Given the description of an element on the screen output the (x, y) to click on. 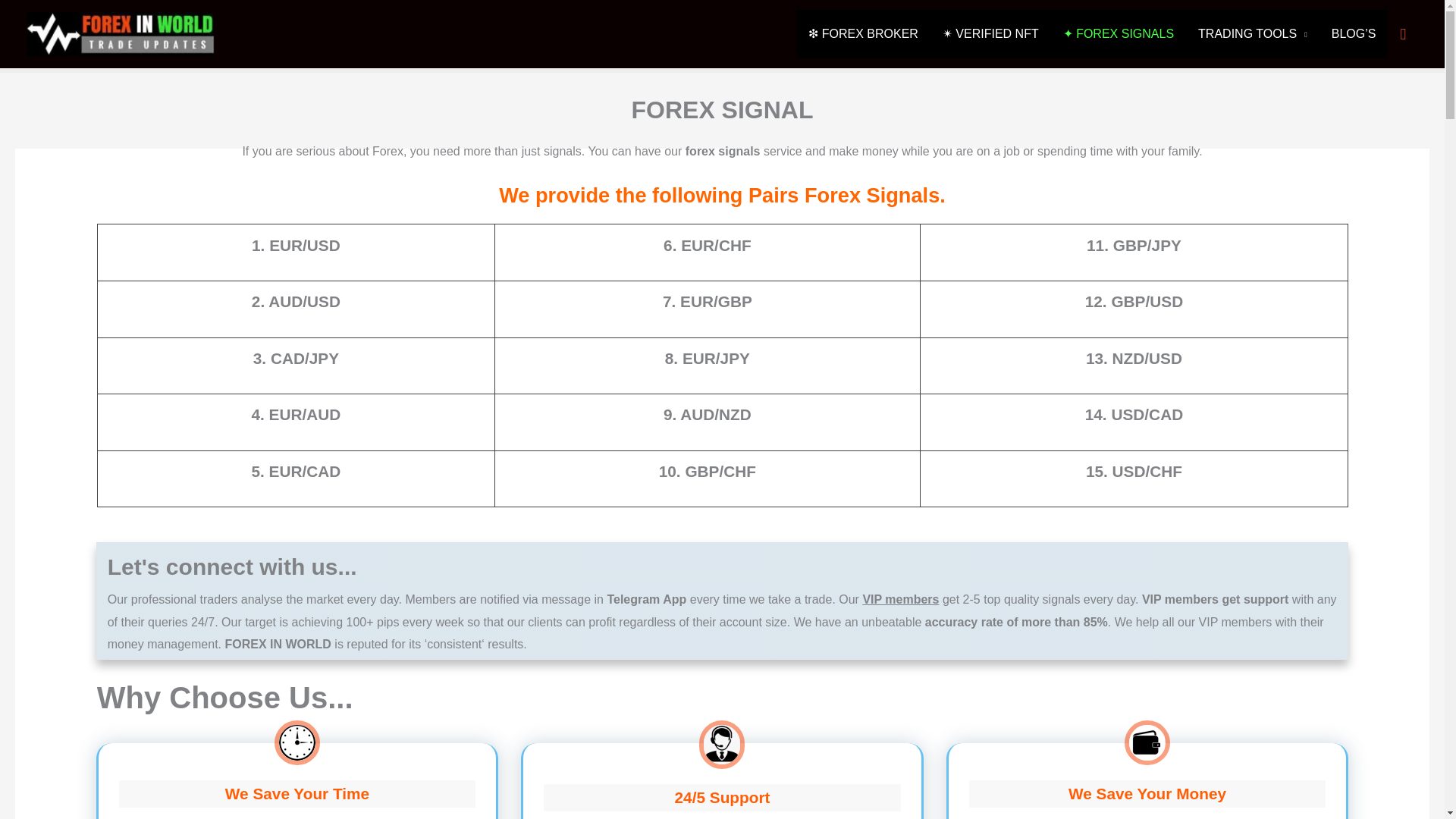
watch (297, 741)
TRADING TOOLS (1252, 33)
support (721, 743)
